Given the description of an element on the screen output the (x, y) to click on. 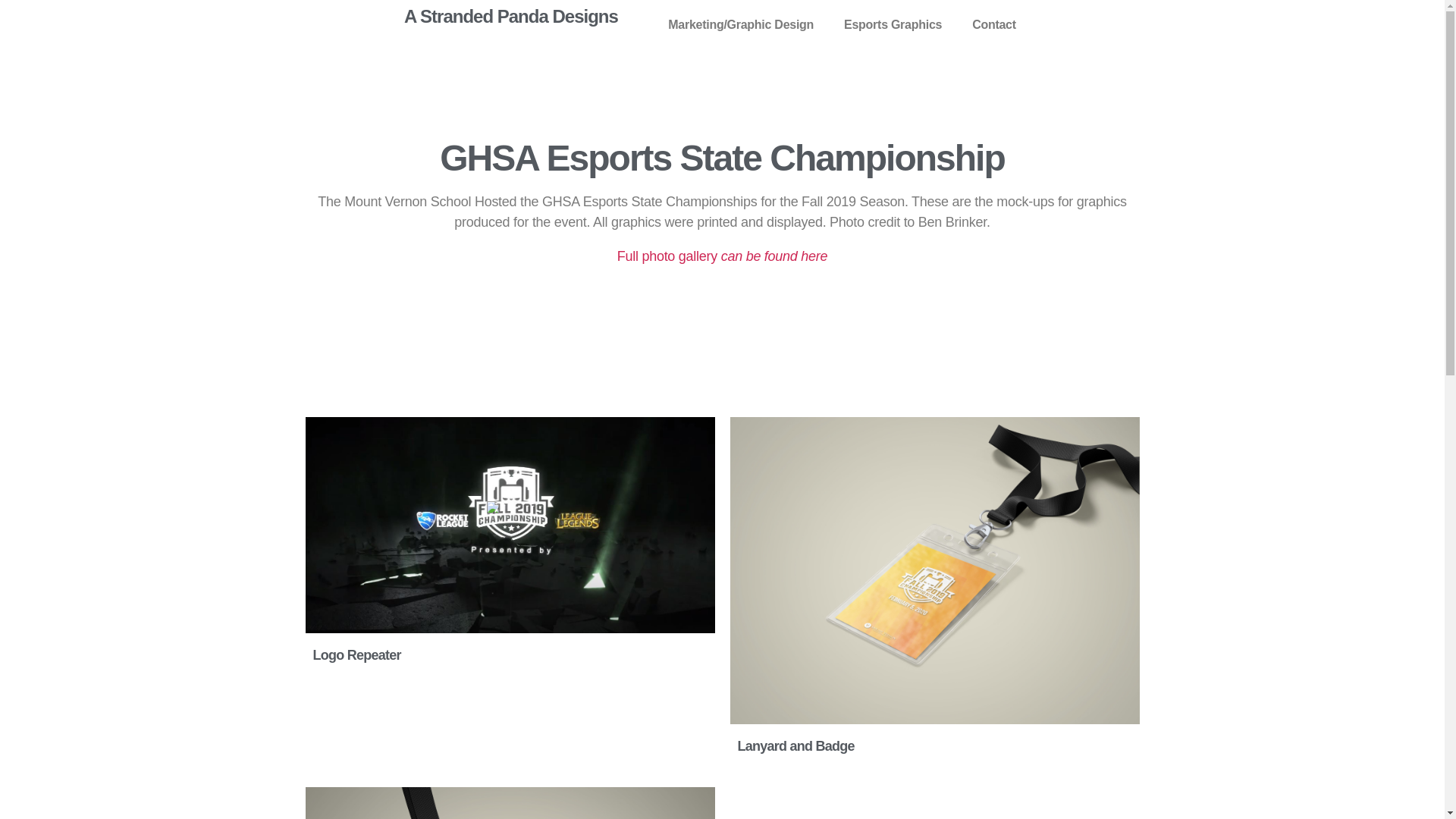
Esports Graphics (896, 24)
A Stranded Panda Designs (511, 16)
Contact (993, 24)
Full photo gallery can be found here (722, 255)
